Given the description of an element on the screen output the (x, y) to click on. 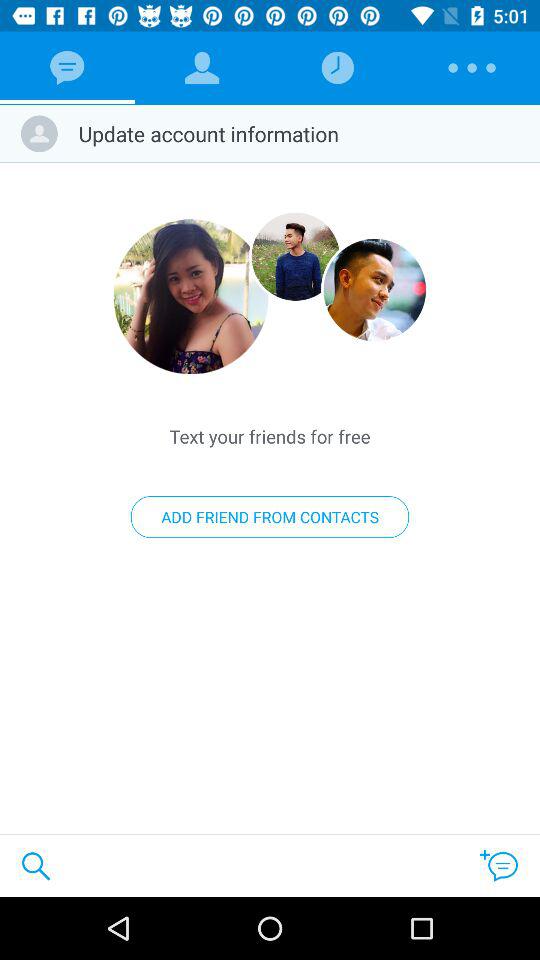
click the add friend from item (269, 517)
